Given the description of an element on the screen output the (x, y) to click on. 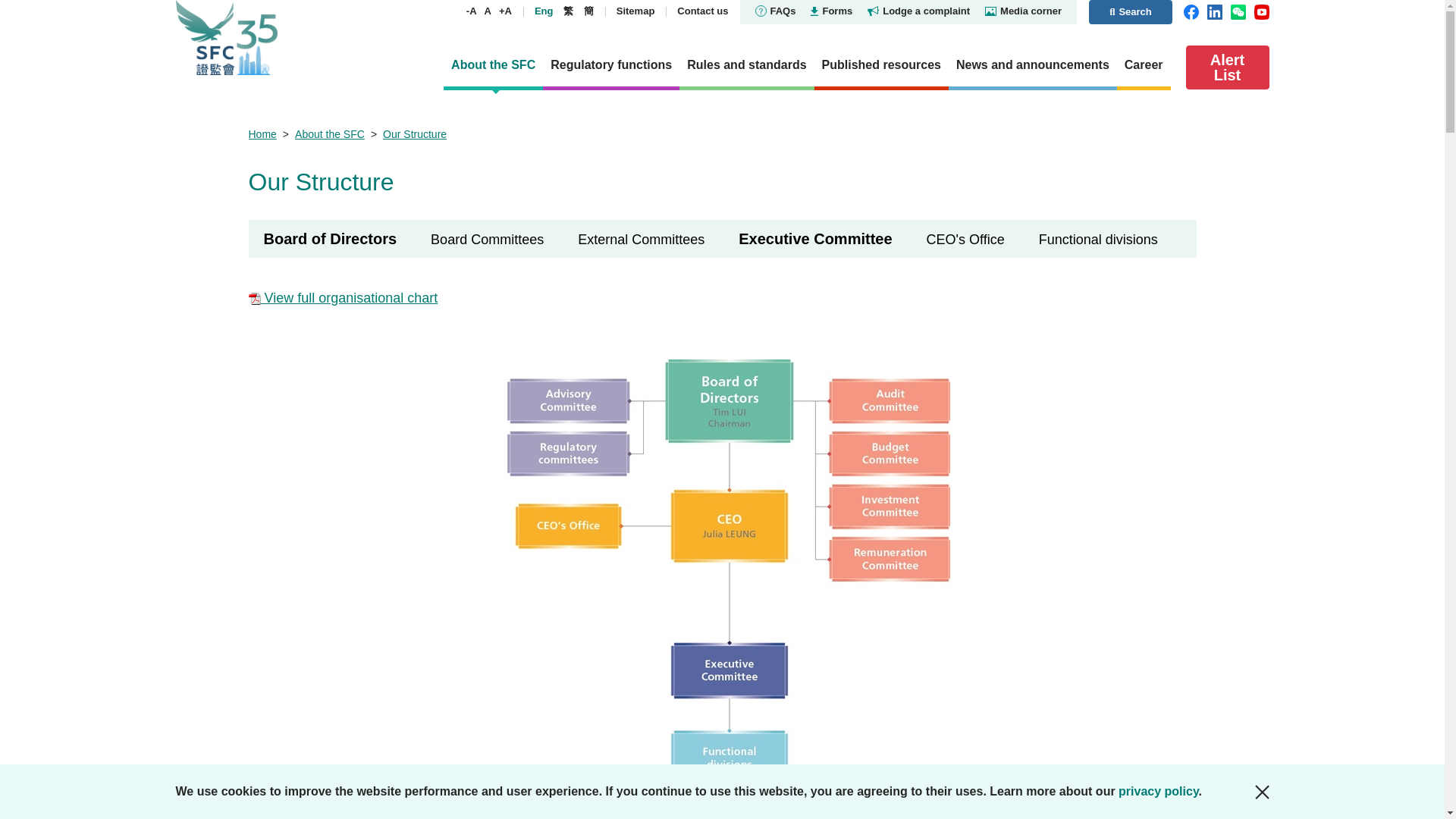
Career (1143, 67)
Published resources (881, 67)
Career (1143, 67)
News and announcements (1227, 67)
FAQs (1032, 67)
Sitemap (740, 10)
Eng (602, 10)
Rules and standards (509, 10)
Sitemap (746, 67)
Forms (602, 10)
About the SFC (797, 10)
Published resources (493, 67)
Facebook (881, 67)
Lodge a complaint (1158, 10)
